Given the description of an element on the screen output the (x, y) to click on. 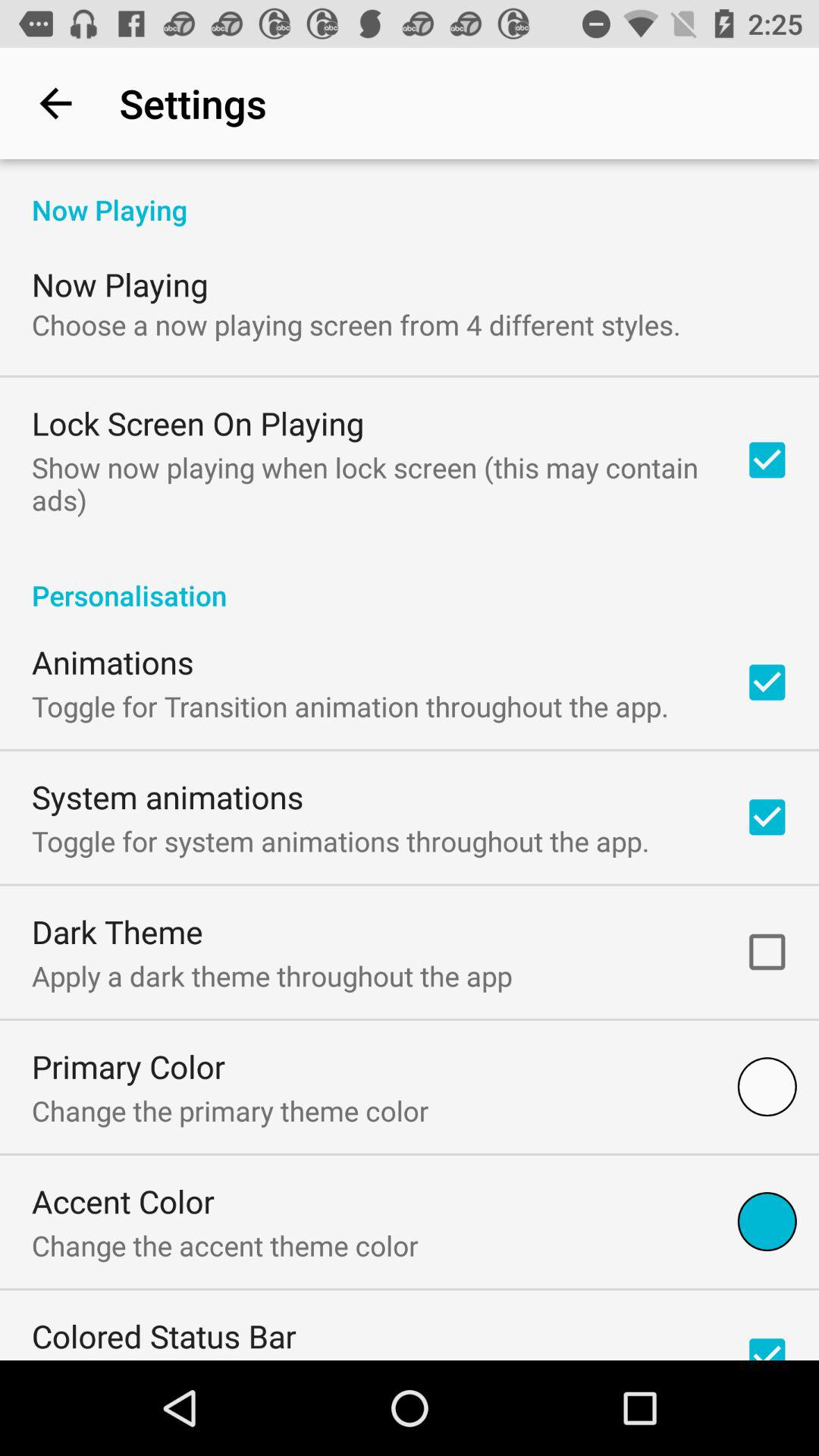
launch apply a dark (271, 975)
